Given the description of an element on the screen output the (x, y) to click on. 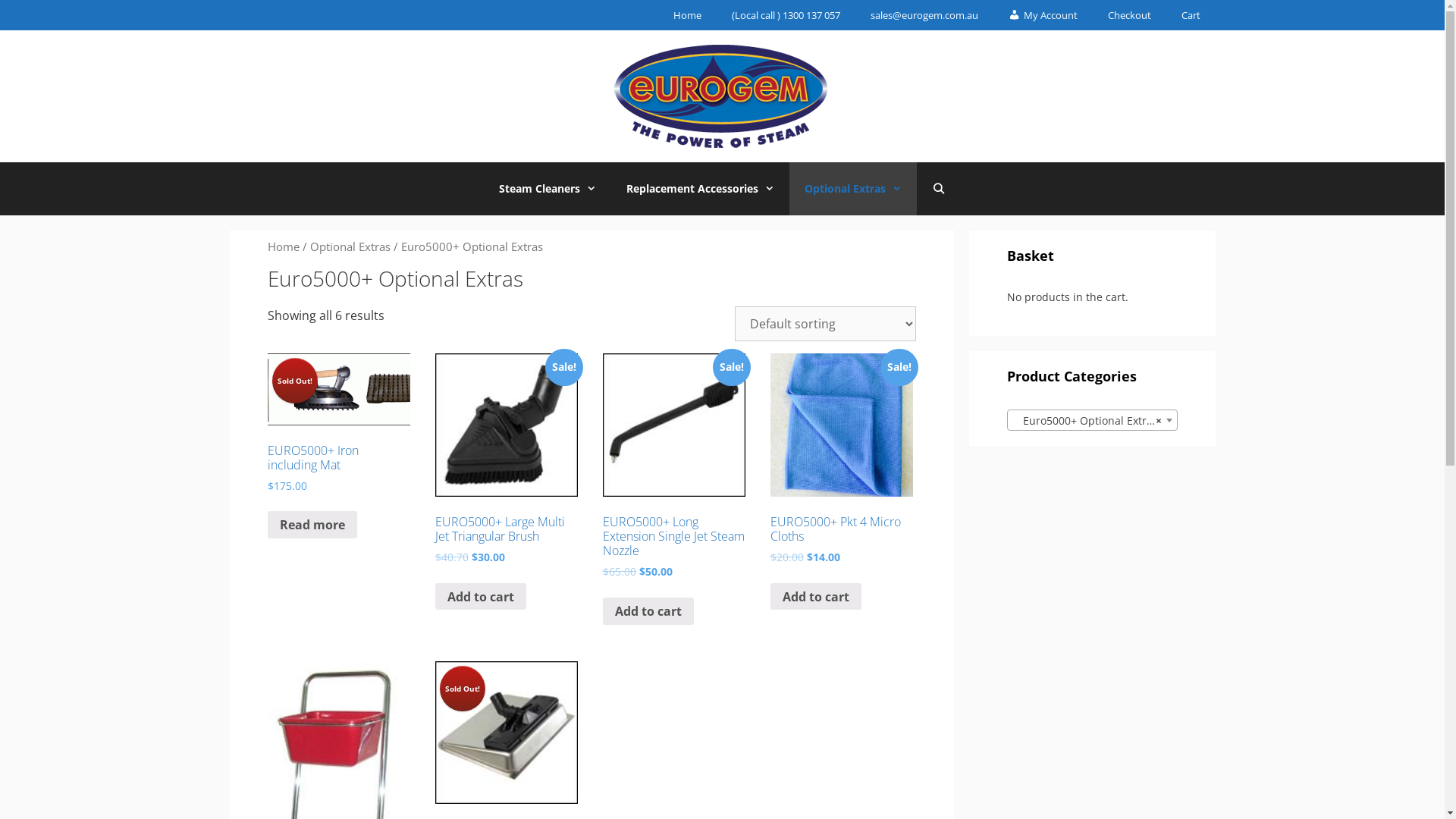
Read more Element type: text (311, 524)
sales@eurogem.com.au Element type: text (924, 15)
(Local call ) 1300 137 057 Element type: text (785, 15)
Add to cart Element type: text (480, 596)
Eurogem Element type: hover (721, 94)
Add to cart Element type: text (647, 610)
Sale!
EURO5000+ Pkt 4 Micro Cloths
$20.00 $14.00 Element type: text (841, 478)
Search Element type: text (35, 17)
Sold Out!
EURO5000+ Iron including Mat
$175.00 Element type: text (338, 443)
My Account Element type: text (1042, 15)
Steam Cleaners Element type: text (547, 188)
Replacement Accessories Element type: text (700, 188)
Home Element type: text (687, 15)
Eurogem Element type: hover (721, 95)
Optional Extras Element type: text (852, 188)
Optional Extras Element type: text (349, 246)
Home Element type: text (282, 246)
Add to cart Element type: text (815, 596)
Checkout Element type: text (1128, 15)
Cart Element type: text (1190, 15)
